Given the description of an element on the screen output the (x, y) to click on. 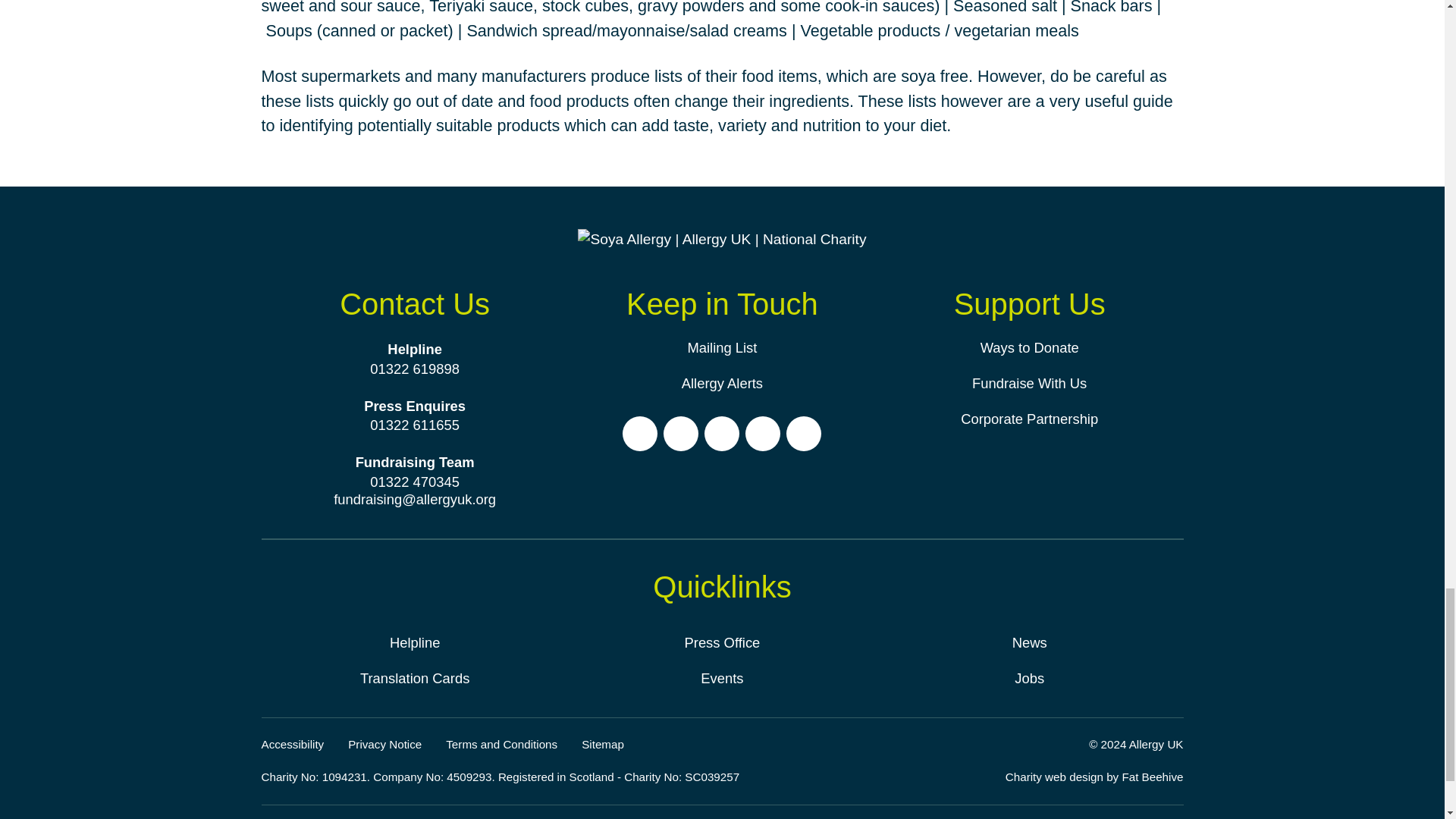
Twitter (721, 433)
Instagram (680, 433)
Linkedin (803, 433)
Facebook (640, 433)
Youtube (762, 433)
